Given the description of an element on the screen output the (x, y) to click on. 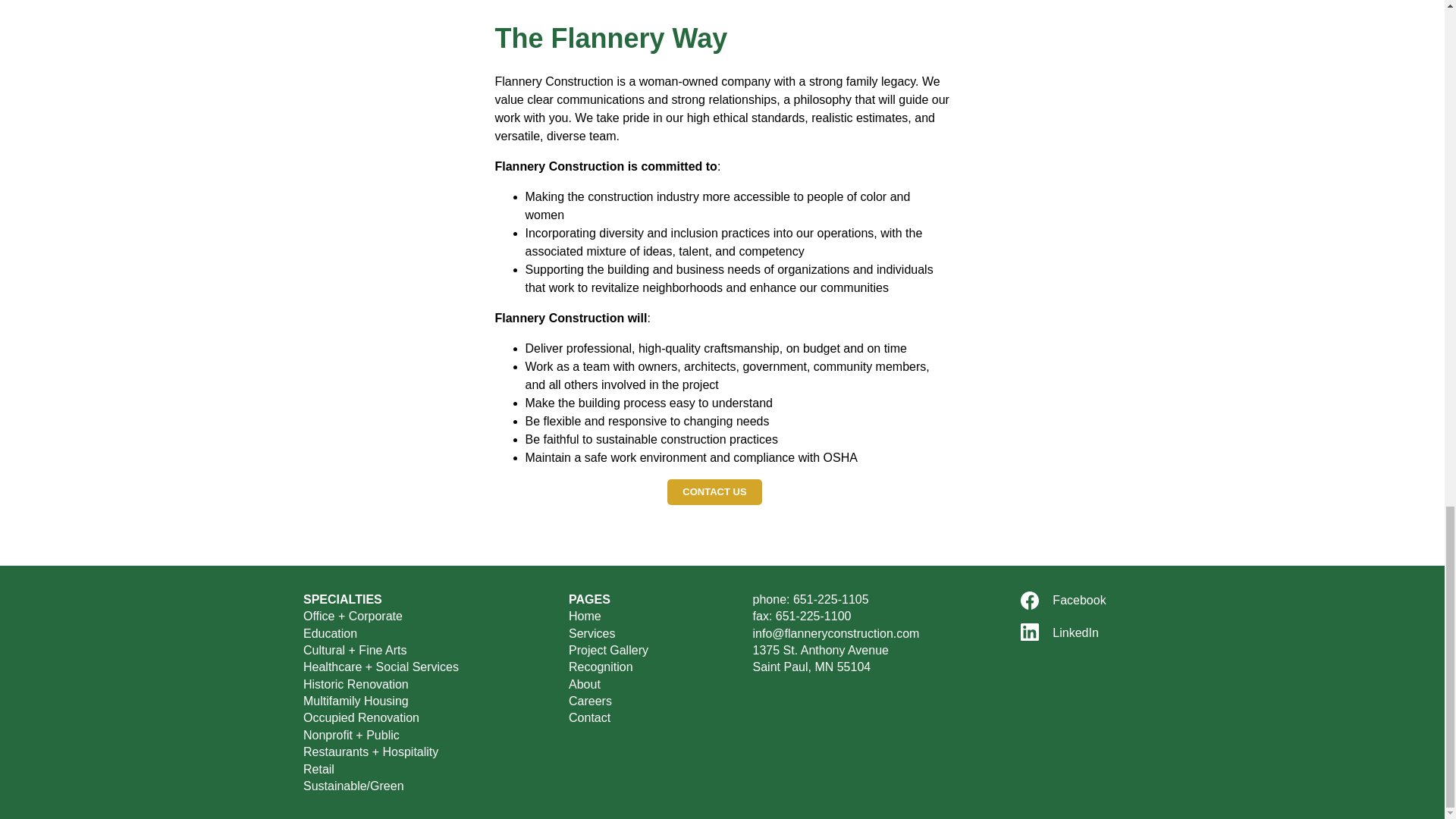
Education (329, 633)
CONTACT US (713, 492)
